Given the description of an element on the screen output the (x, y) to click on. 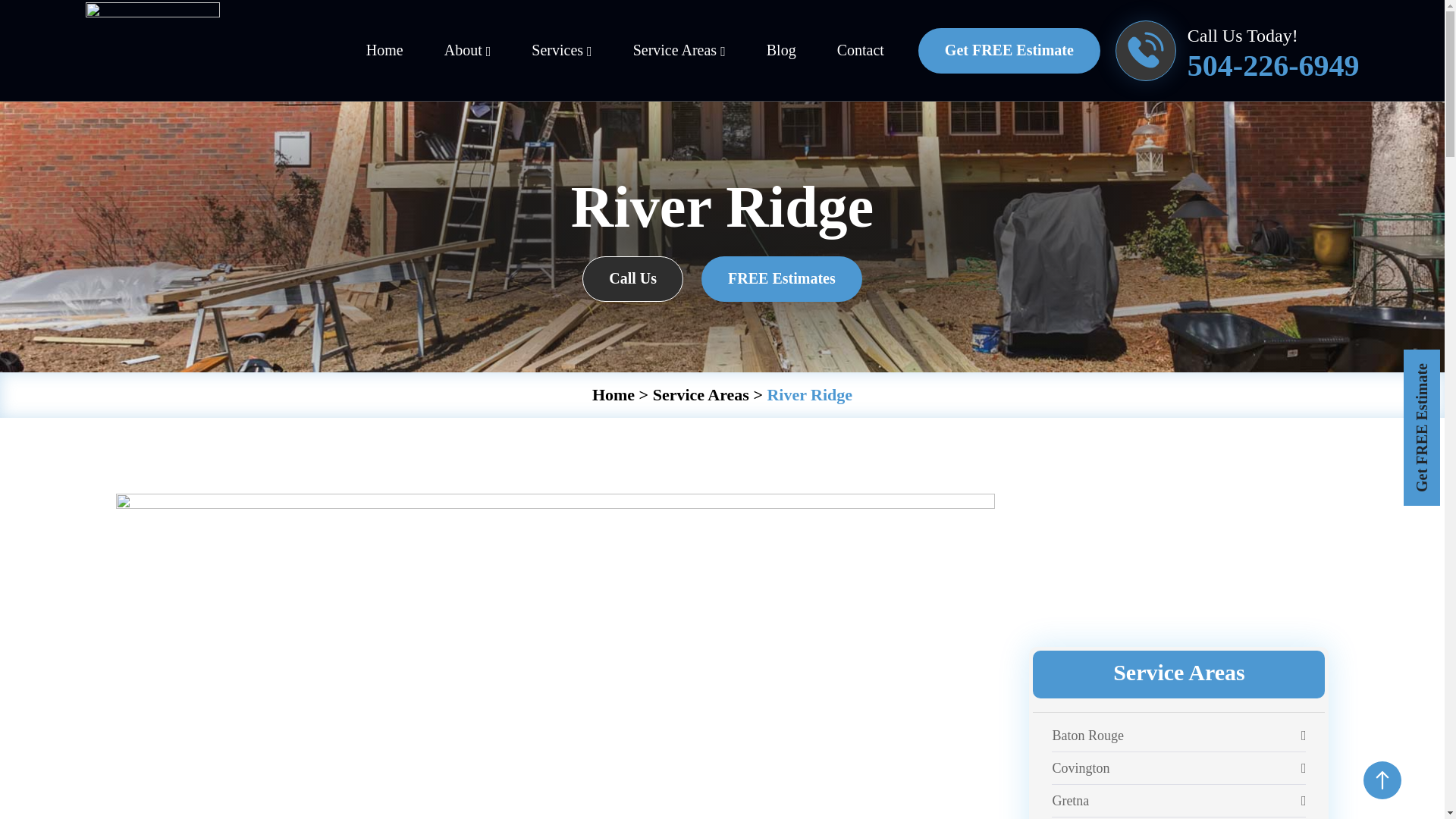
Get A Free Estimate! Sidebar (1178, 553)
Services (561, 50)
About (468, 50)
